Given the description of an element on the screen output the (x, y) to click on. 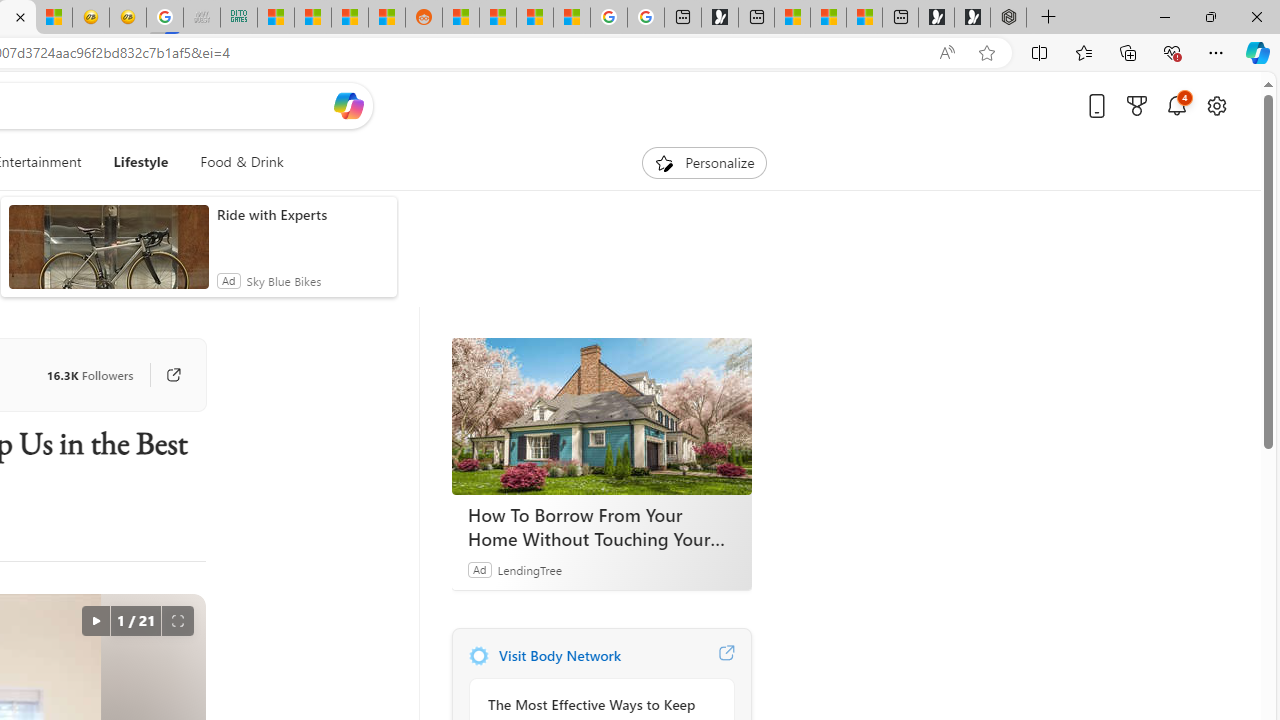
Full screen (177, 620)
